Given the description of an element on the screen output the (x, y) to click on. 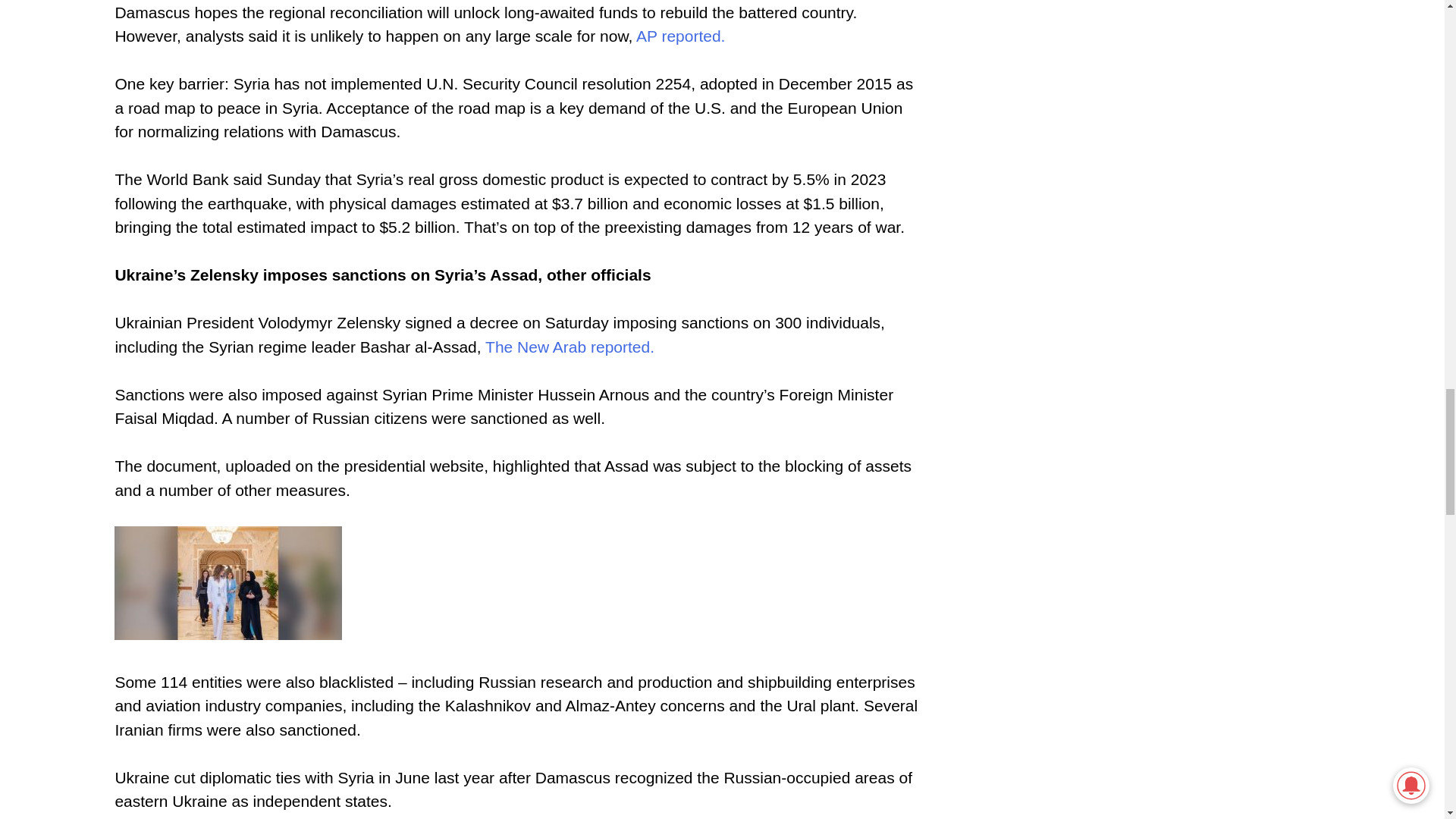
The New Arab reported. (568, 346)
AP reported. (680, 36)
